Given the description of an element on the screen output the (x, y) to click on. 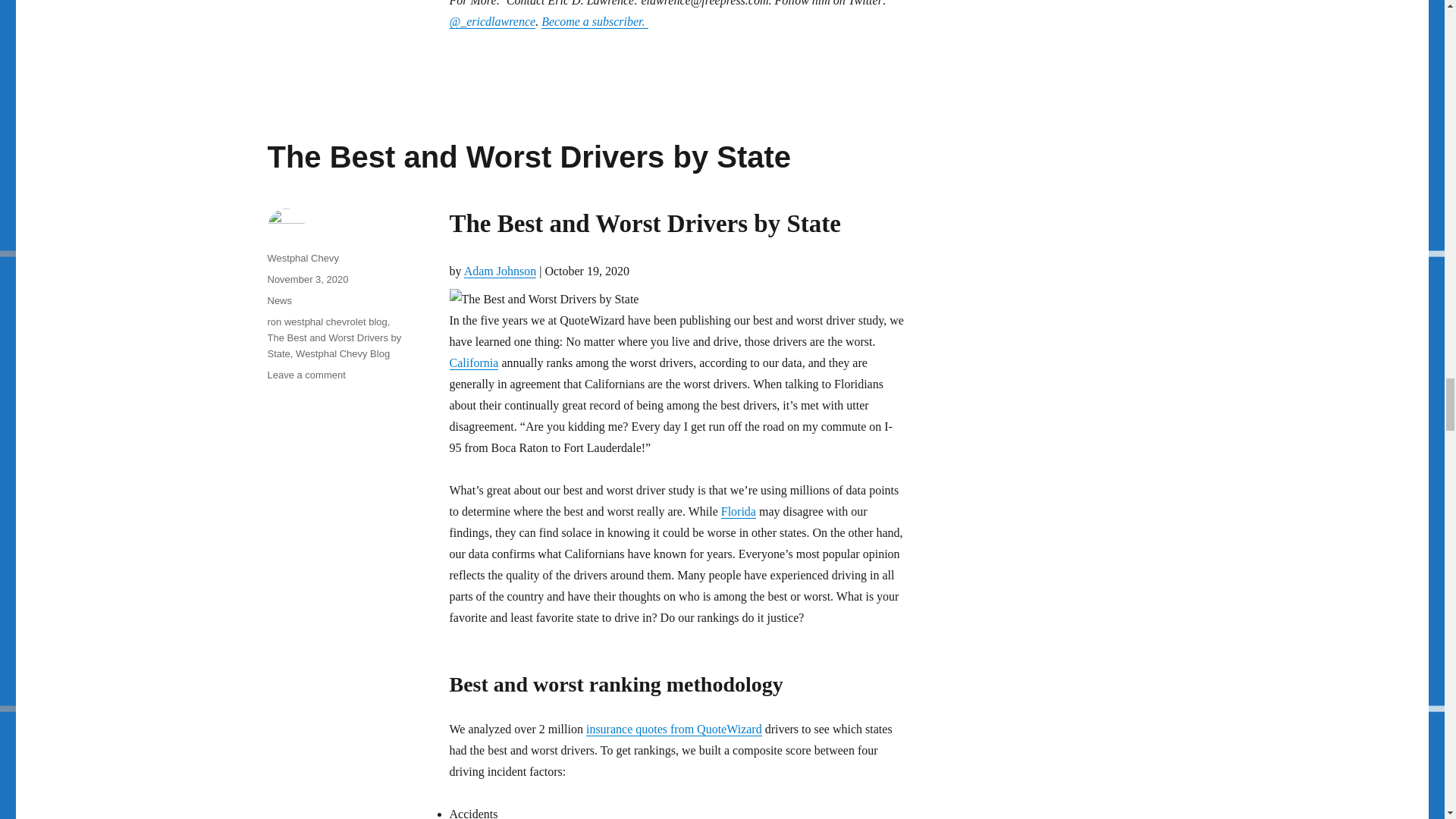
The Best and Worst Drivers by State (528, 155)
Become a subscriber.  (594, 21)
Adam Johnson (500, 269)
